Given the description of an element on the screen output the (x, y) to click on. 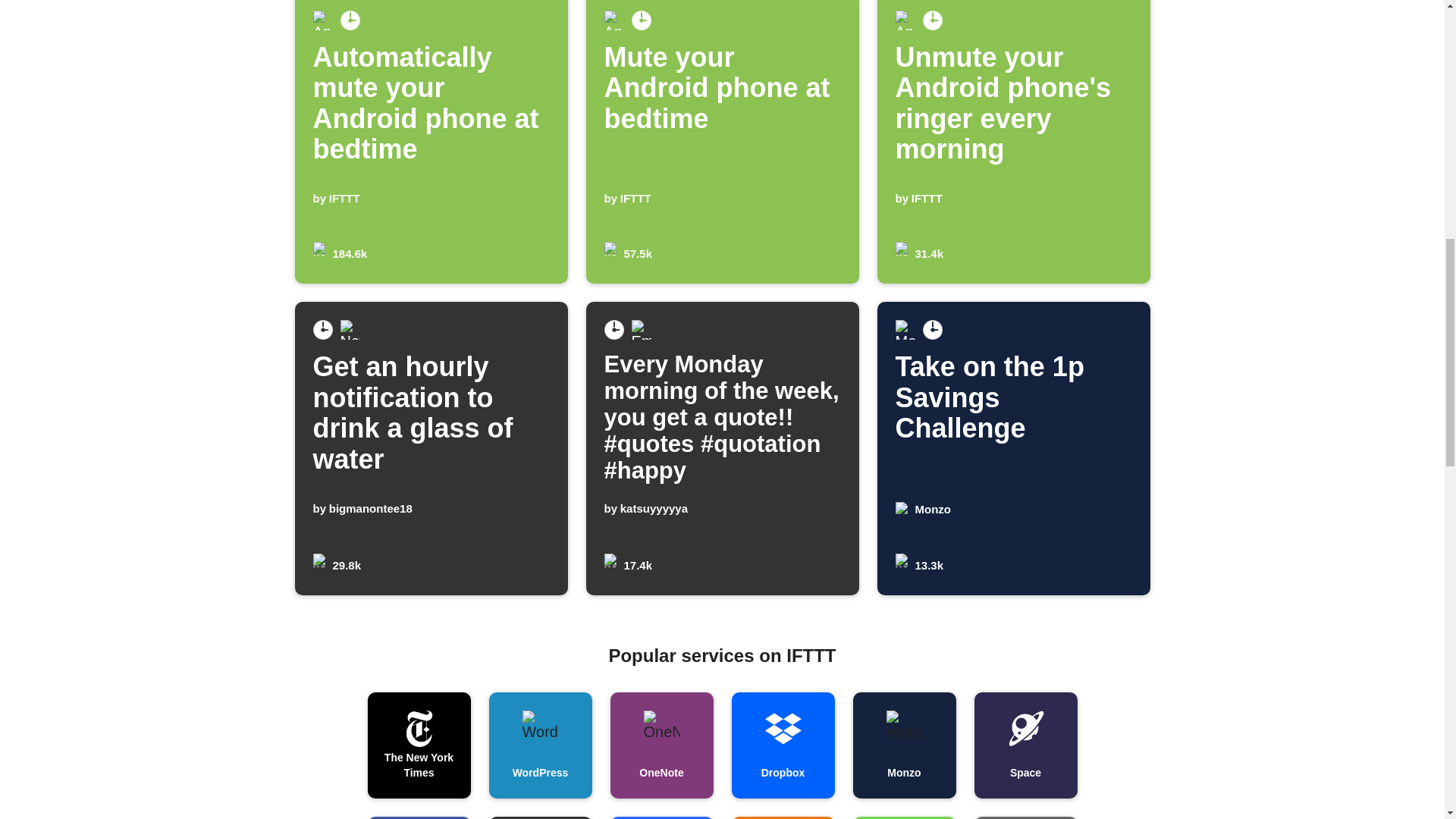
Space (1025, 745)
OneNote (661, 745)
WordPress (722, 142)
Monzo (539, 745)
Facebook (903, 745)
The New York Times (418, 817)
